Given the description of an element on the screen output the (x, y) to click on. 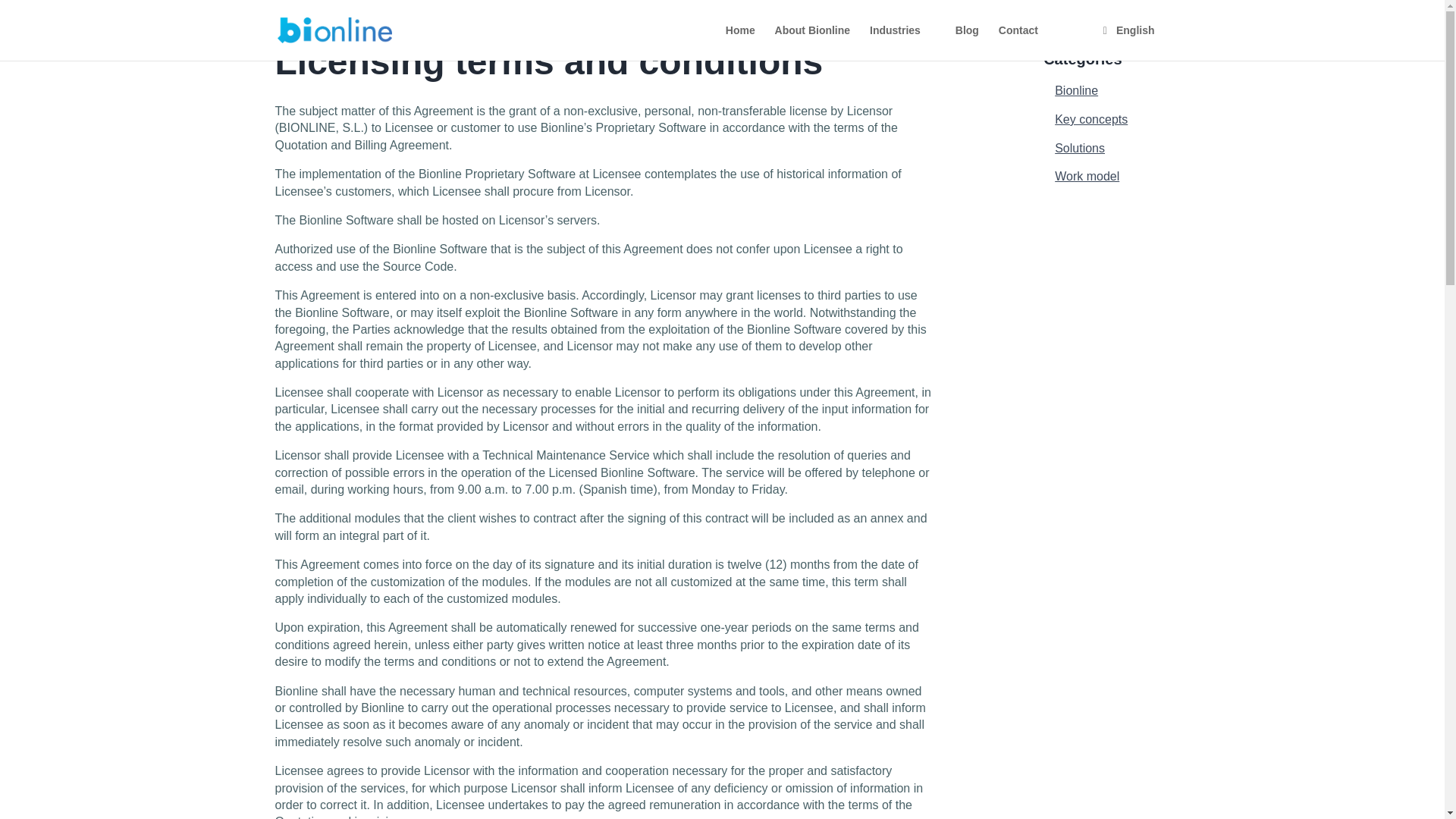
Bionline (1075, 90)
English (1143, 42)
Industries (902, 42)
Contact (1018, 42)
English (1143, 42)
Key concepts (1090, 119)
About Bionline (812, 42)
Work model (1086, 175)
Solutions (1079, 147)
